Given the description of an element on the screen output the (x, y) to click on. 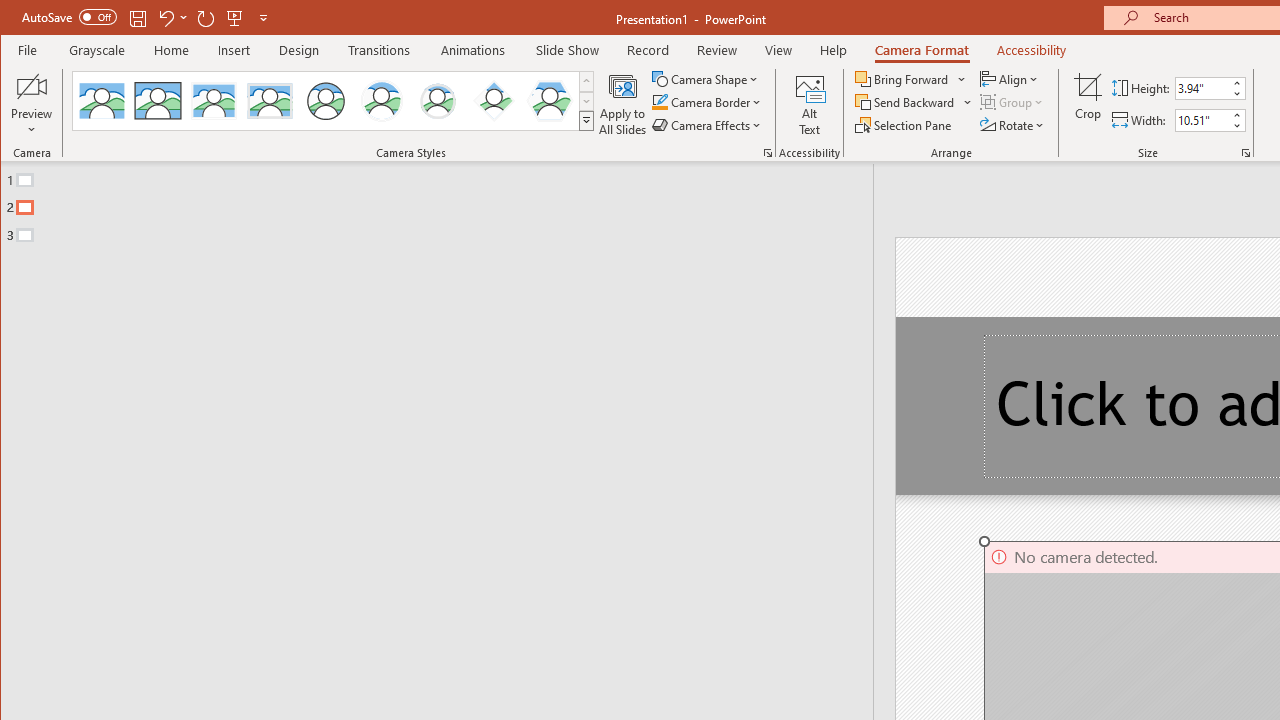
Camera Styles (585, 120)
Crop (1087, 104)
Bring Forward (903, 78)
Camera Border (706, 101)
